Given the description of an element on the screen output the (x, y) to click on. 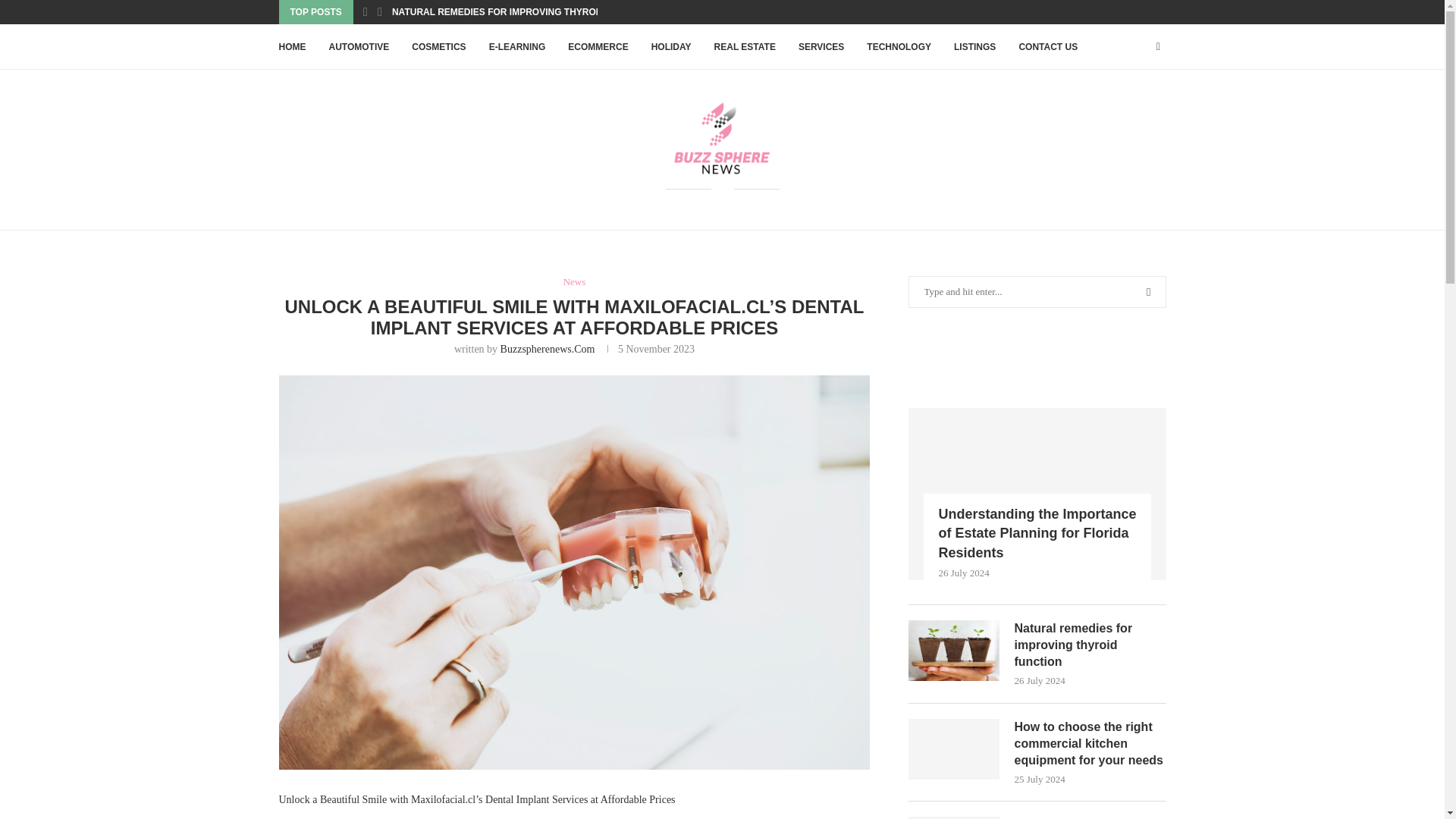
COSMETICS (438, 46)
News (574, 282)
REAL ESTATE (745, 46)
AUTOMOTIVE (359, 46)
HOLIDAY (670, 46)
E-LEARNING (517, 46)
Buzzspherenews.Com (547, 348)
LISTINGS (974, 46)
NATURAL REMEDIES FOR IMPROVING THYROID FUNCTION (522, 12)
TECHNOLOGY (898, 46)
SERVICES (820, 46)
ECOMMERCE (597, 46)
CONTACT US (1047, 46)
